Given the description of an element on the screen output the (x, y) to click on. 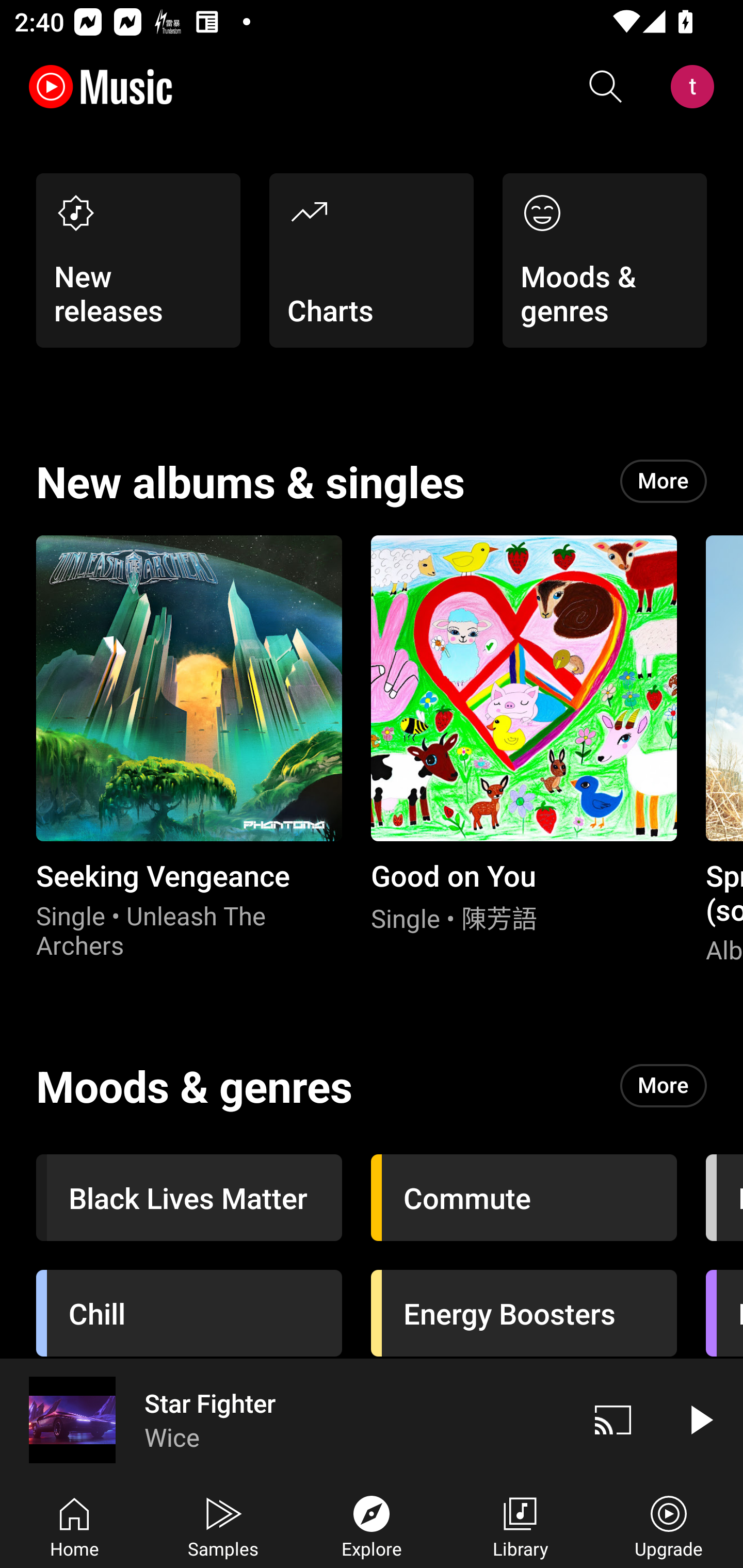
Search (605, 86)
Account (696, 86)
Star Fighter Wice (284, 1419)
Cast. Disconnected (612, 1419)
Play video (699, 1419)
Home (74, 1524)
Samples (222, 1524)
Library (519, 1524)
Upgrade (668, 1524)
